Given the description of an element on the screen output the (x, y) to click on. 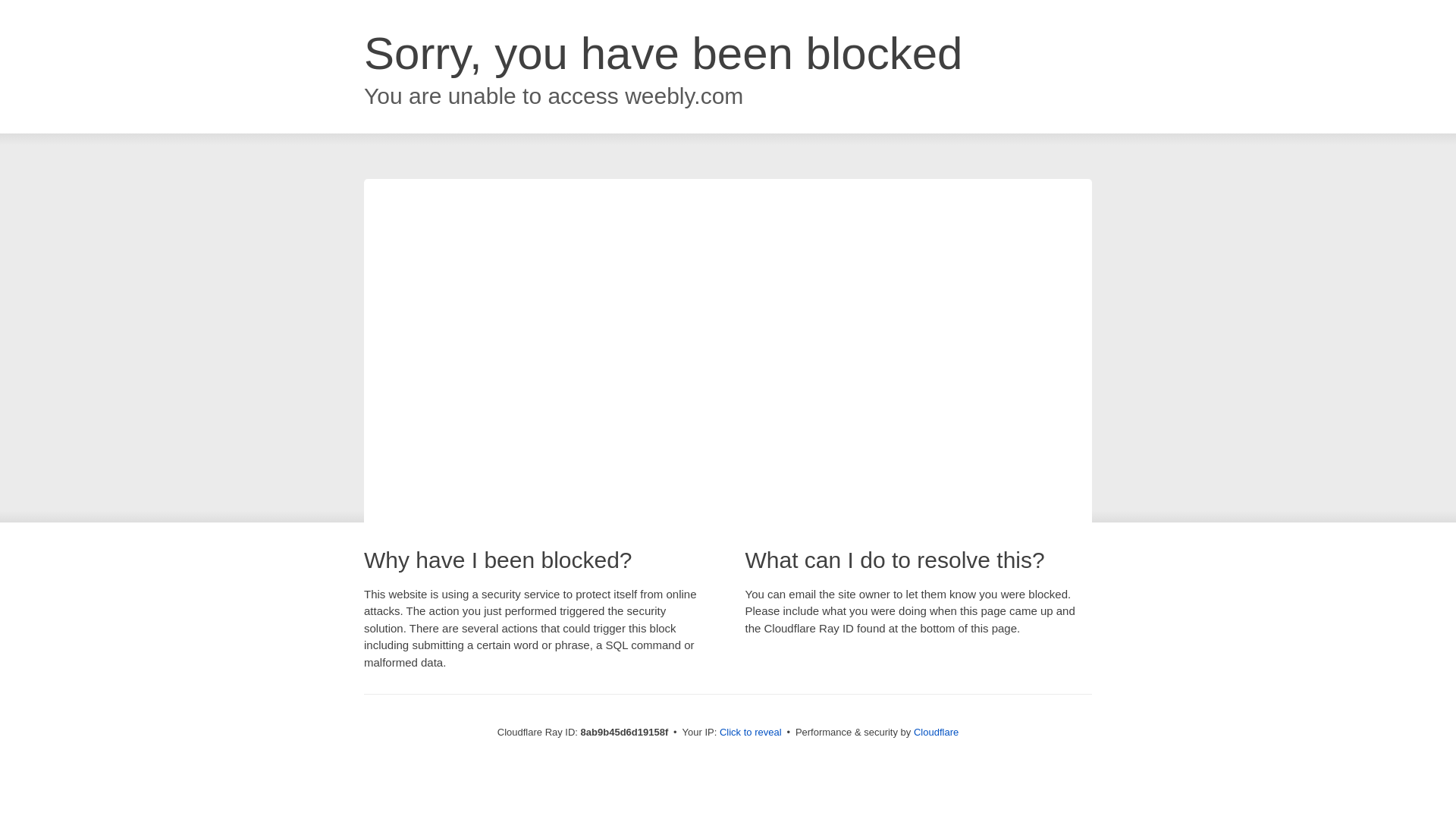
Click to reveal (750, 732)
Cloudflare (936, 731)
